Given the description of an element on the screen output the (x, y) to click on. 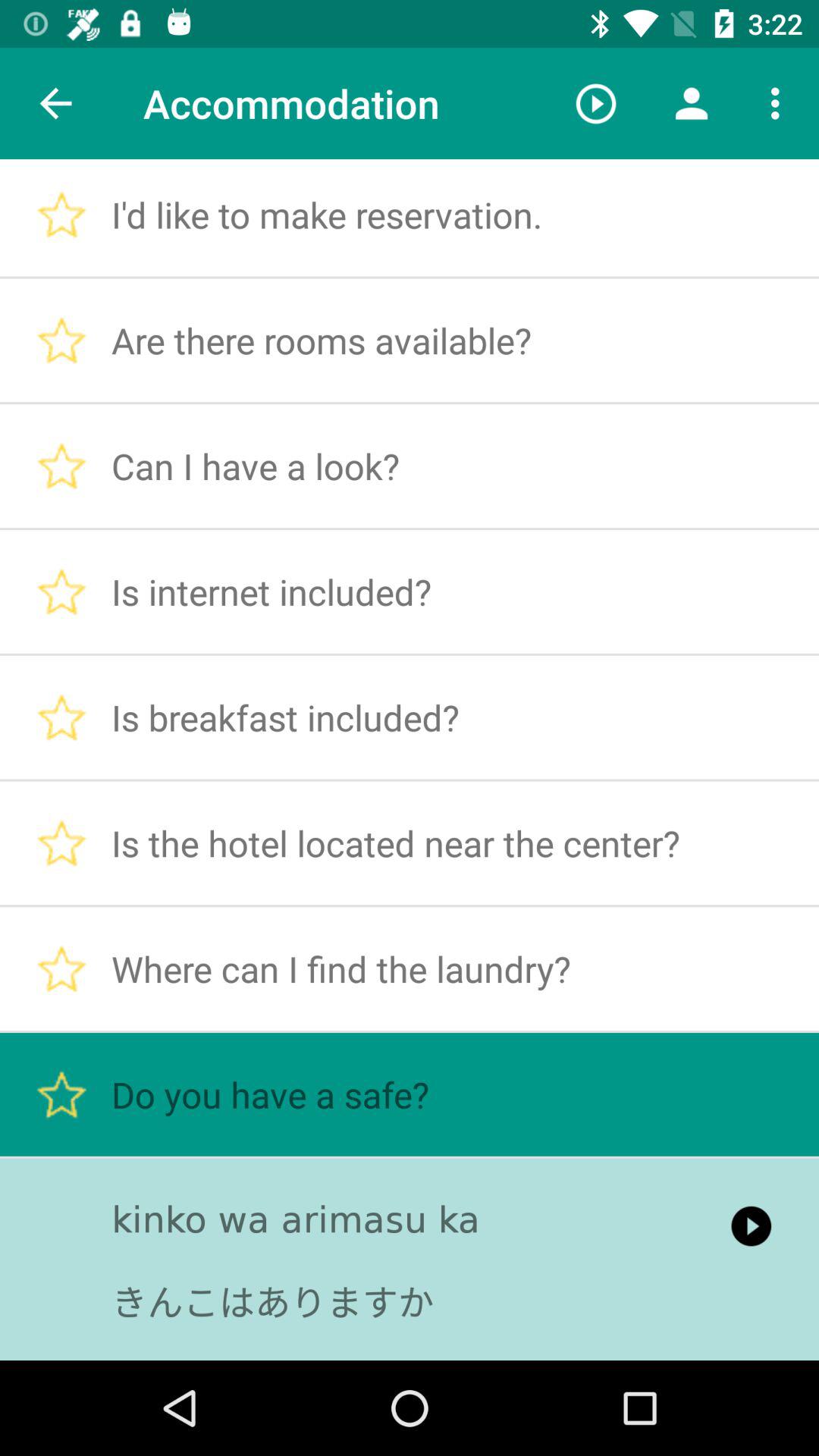
click on menu (779, 103)
